Given the description of an element on the screen output the (x, y) to click on. 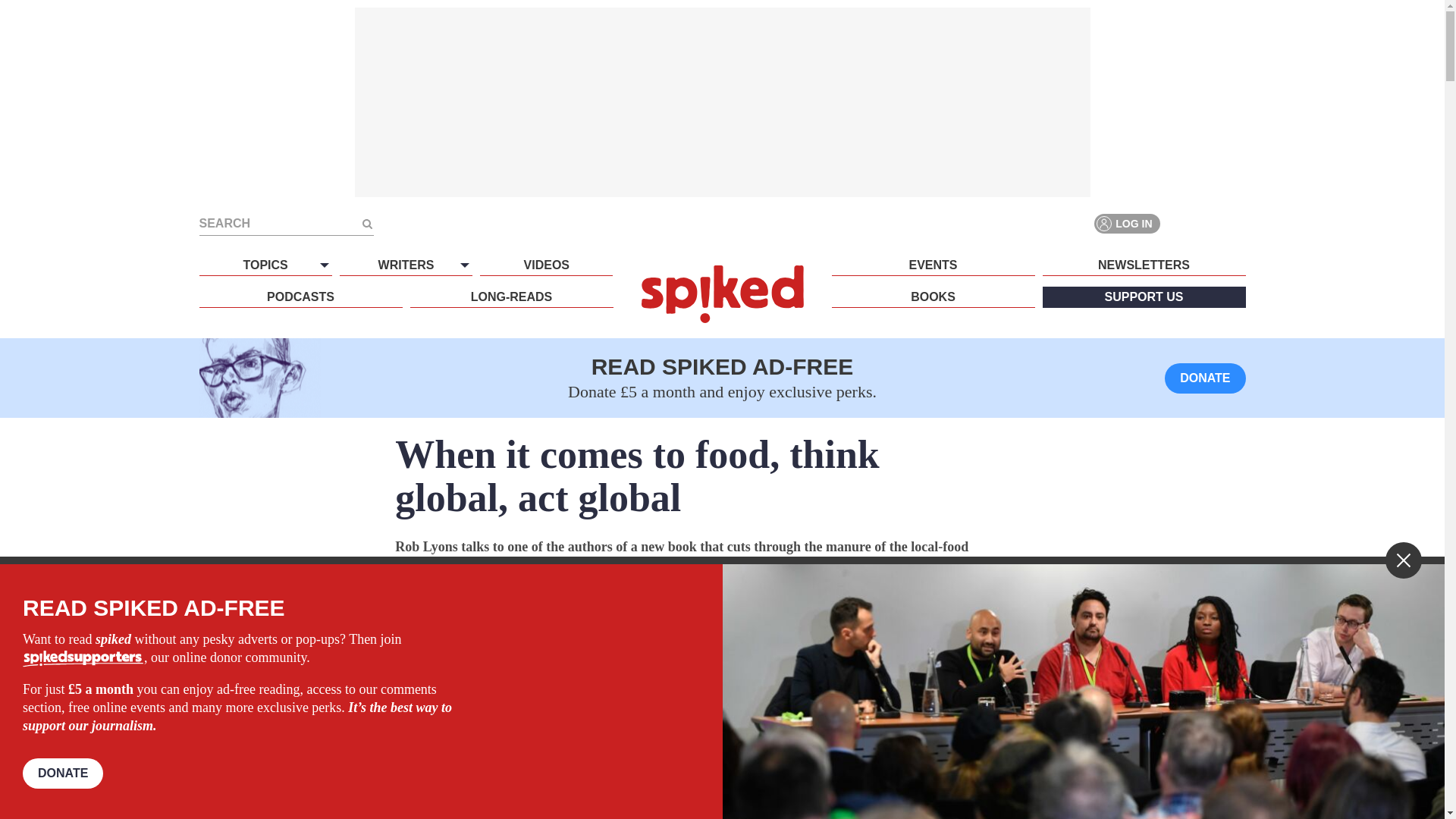
spiked - humanity is underrated (722, 293)
VIDEOS (546, 265)
EVENTS (932, 265)
YouTube (1234, 223)
Facebook (1180, 223)
WRITERS (405, 265)
TOPICS (264, 265)
SUPPORT US (1143, 296)
BOOKS (932, 296)
NEWSLETTERS (1143, 265)
Twitter (1207, 223)
PODCASTS (299, 296)
LOG IN (1126, 223)
LONG-READS (510, 296)
